Given the description of an element on the screen output the (x, y) to click on. 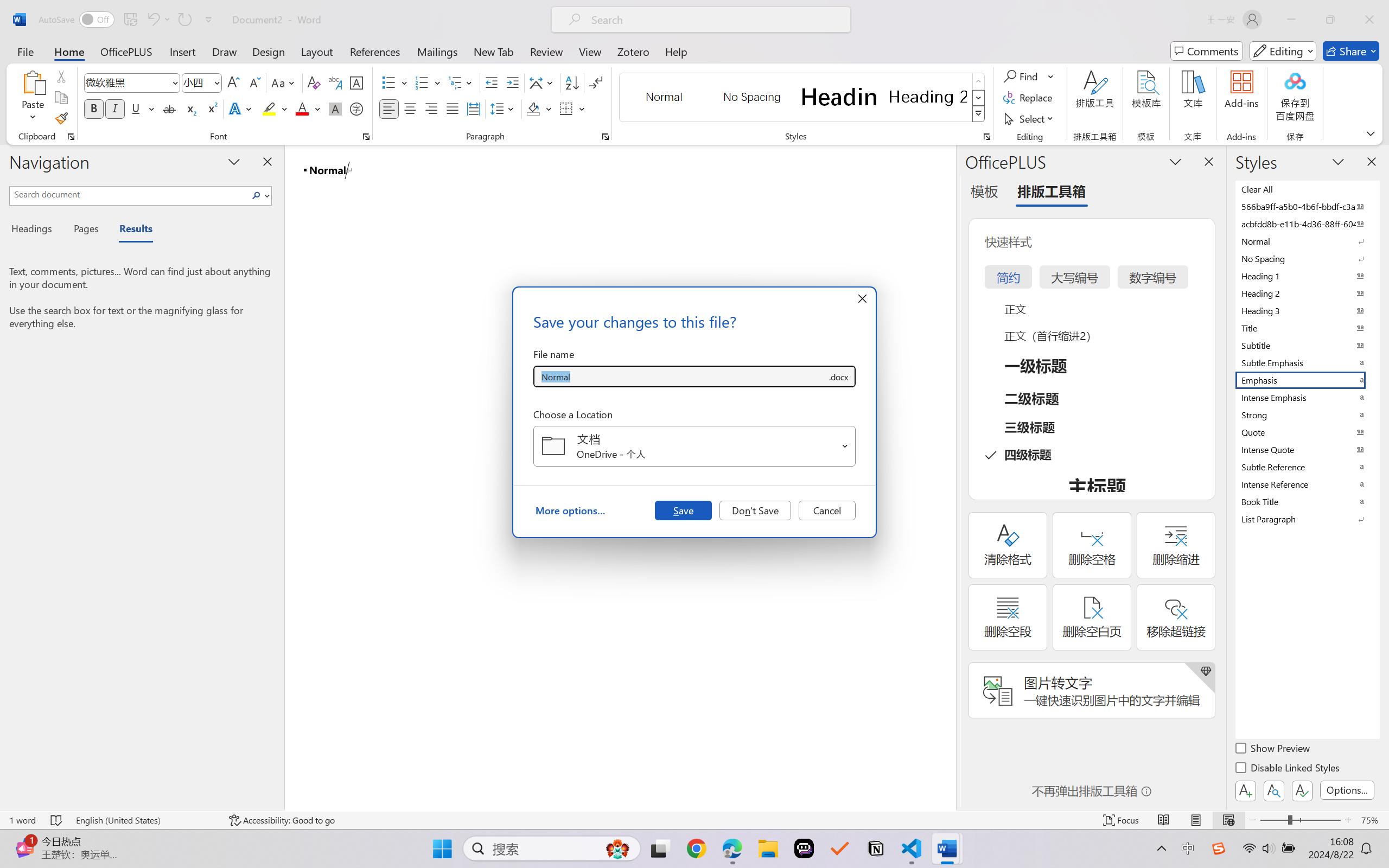
Subscript (190, 108)
Asian Layout (542, 82)
Save as type (837, 376)
Design (268, 51)
AutomationID: QuickStylesGallery (802, 97)
Restore Down (1330, 19)
Text Highlight Color Yellow (269, 108)
Class: MsoCommandBar (694, 819)
Layout (316, 51)
